Given the description of an element on the screen output the (x, y) to click on. 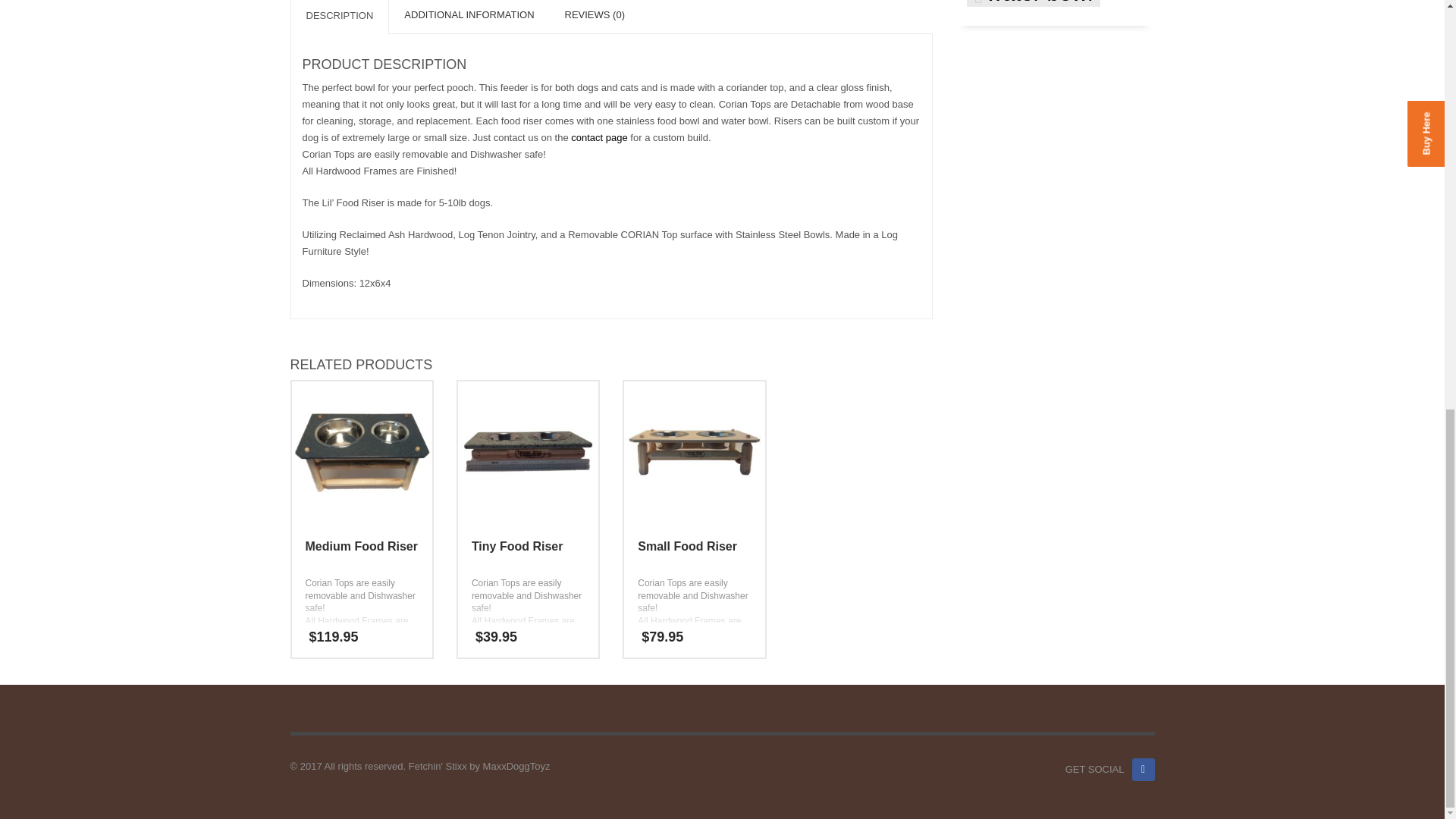
medium-riser (360, 451)
contact page (600, 137)
DESCRIPTION (338, 17)
tiny-riser (528, 451)
ADDITIONAL INFORMATION (468, 16)
